Given the description of an element on the screen output the (x, y) to click on. 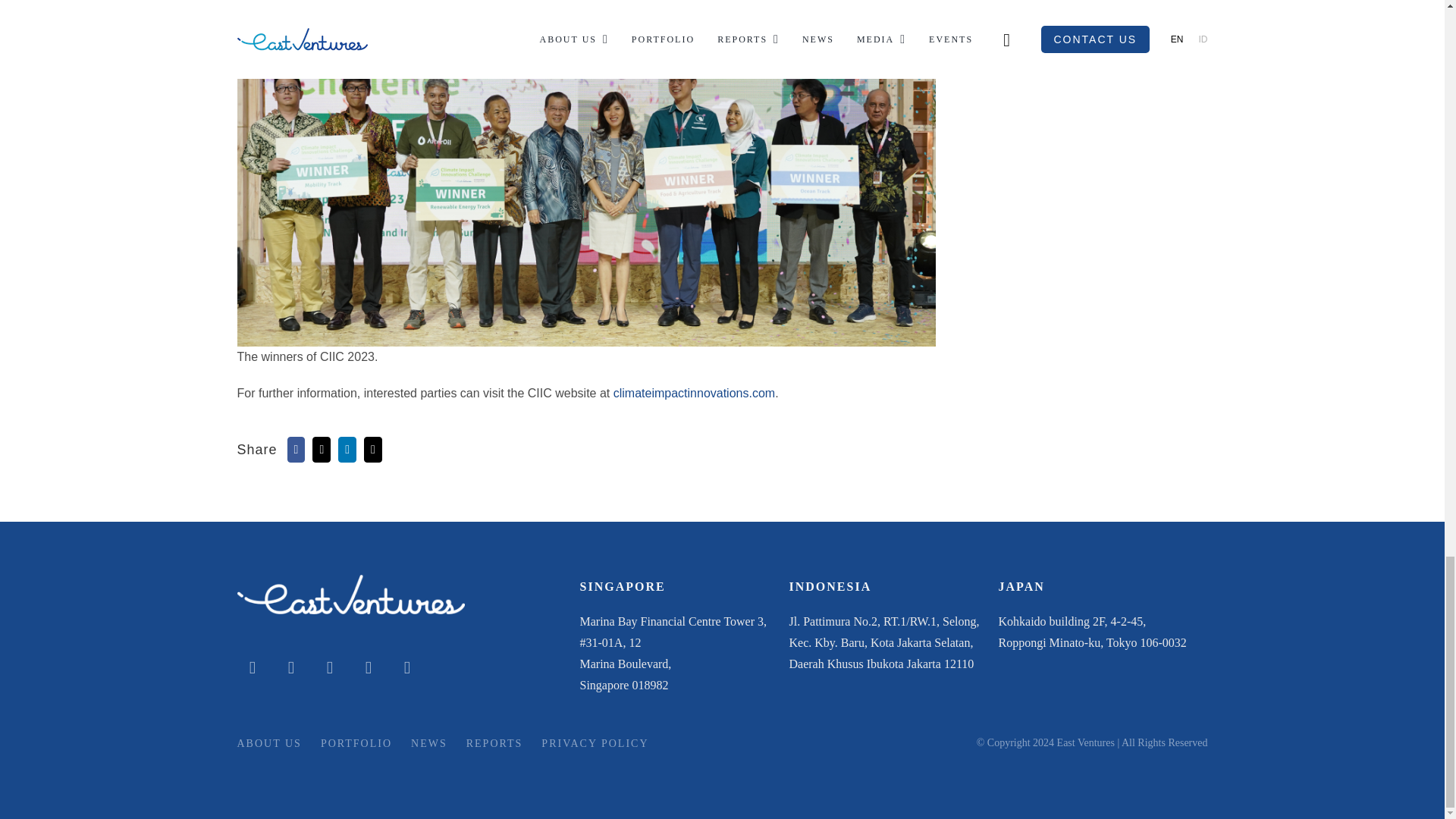
climateimpactinnovations.com (693, 392)
